Given the description of an element on the screen output the (x, y) to click on. 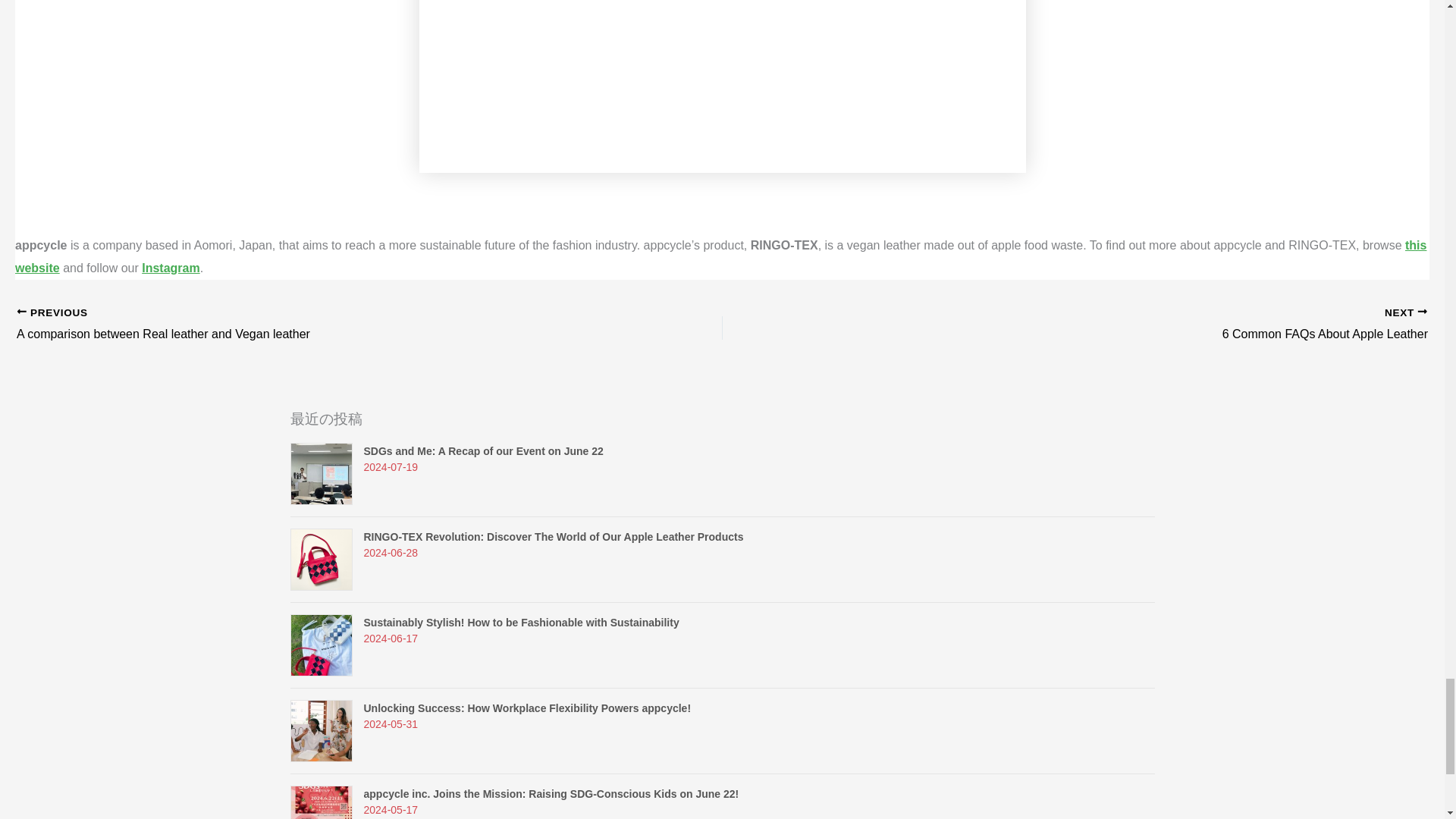
A comparison between Real leather and Vegan leather (299, 324)
SDGs and Me: A Recap of our Event on June 22 (299, 324)
this website (484, 451)
6 Common FAQs About Apple Leather (720, 256)
Instagram (1144, 324)
